Given the description of an element on the screen output the (x, y) to click on. 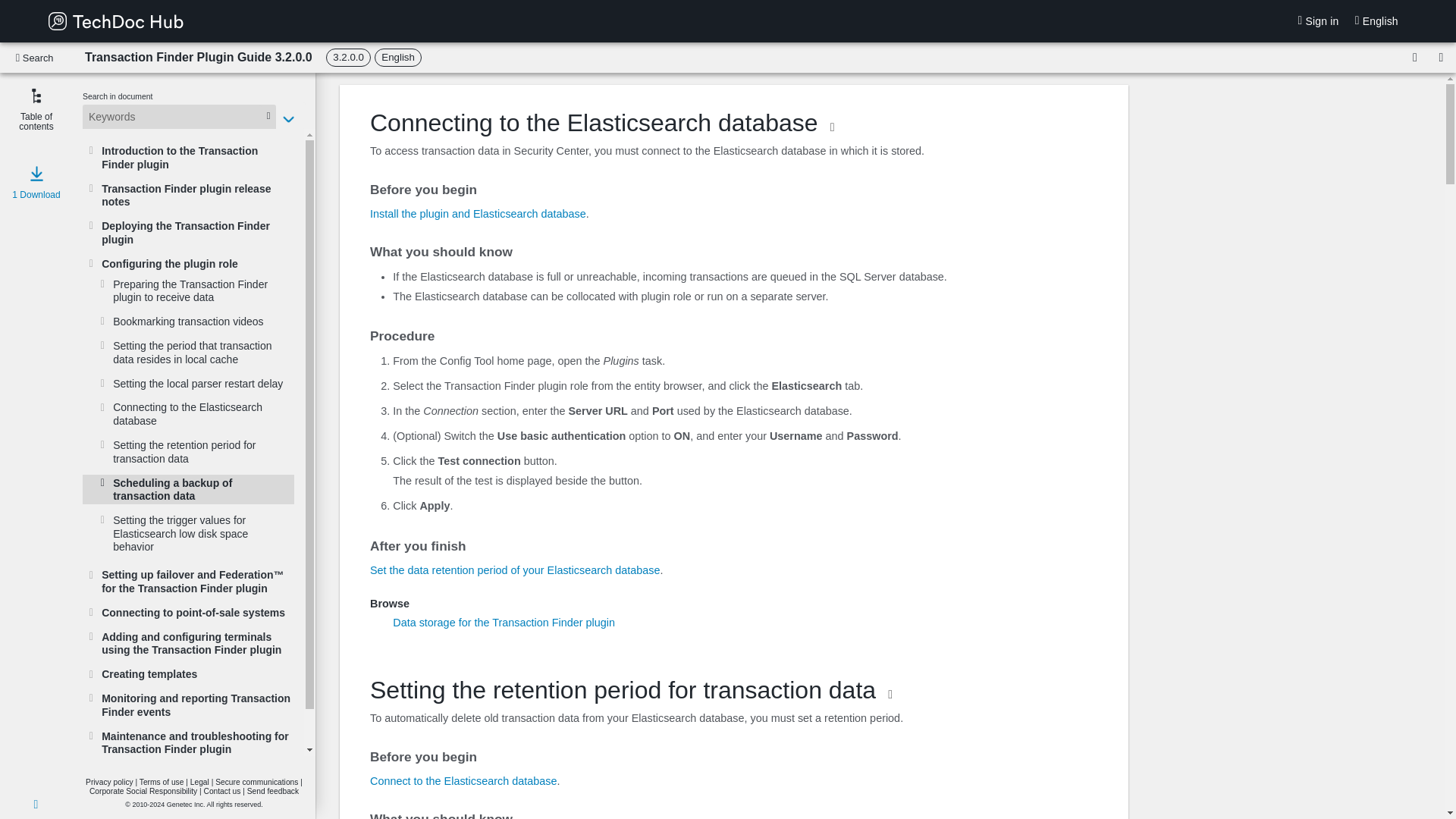
Sign in (1319, 21)
Deploying the Transaction Finder plugin (196, 232)
Transaction Finder plugin release notes (196, 194)
Language: English (398, 57)
Scheduling a backup of transaction data (202, 488)
Setting the retention period for transaction data (202, 451)
Connecting to the Elasticsearch database (202, 414)
Search (35, 57)
Sign in (1319, 21)
Setting the local parser restart delay (202, 383)
